Given the description of an element on the screen output the (x, y) to click on. 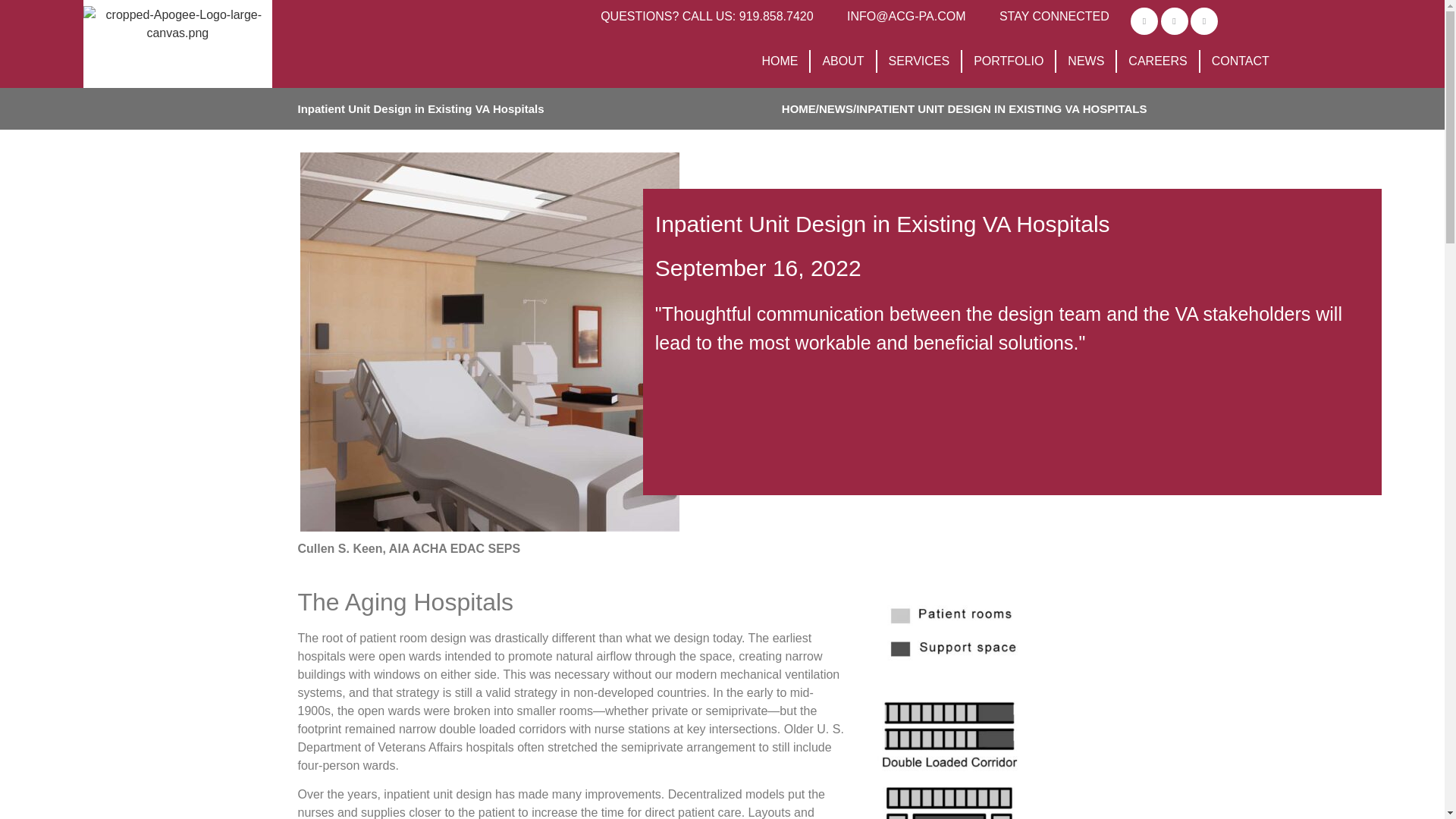
CAREERS (1157, 60)
SERVICES (919, 60)
cropped-Apogee-Logo-large-canvas.png (177, 23)
HOME (779, 60)
919.858.7420 (776, 15)
NEWS (1086, 60)
ABOUT (843, 60)
PORTFOLIO (1009, 60)
